Given the description of an element on the screen output the (x, y) to click on. 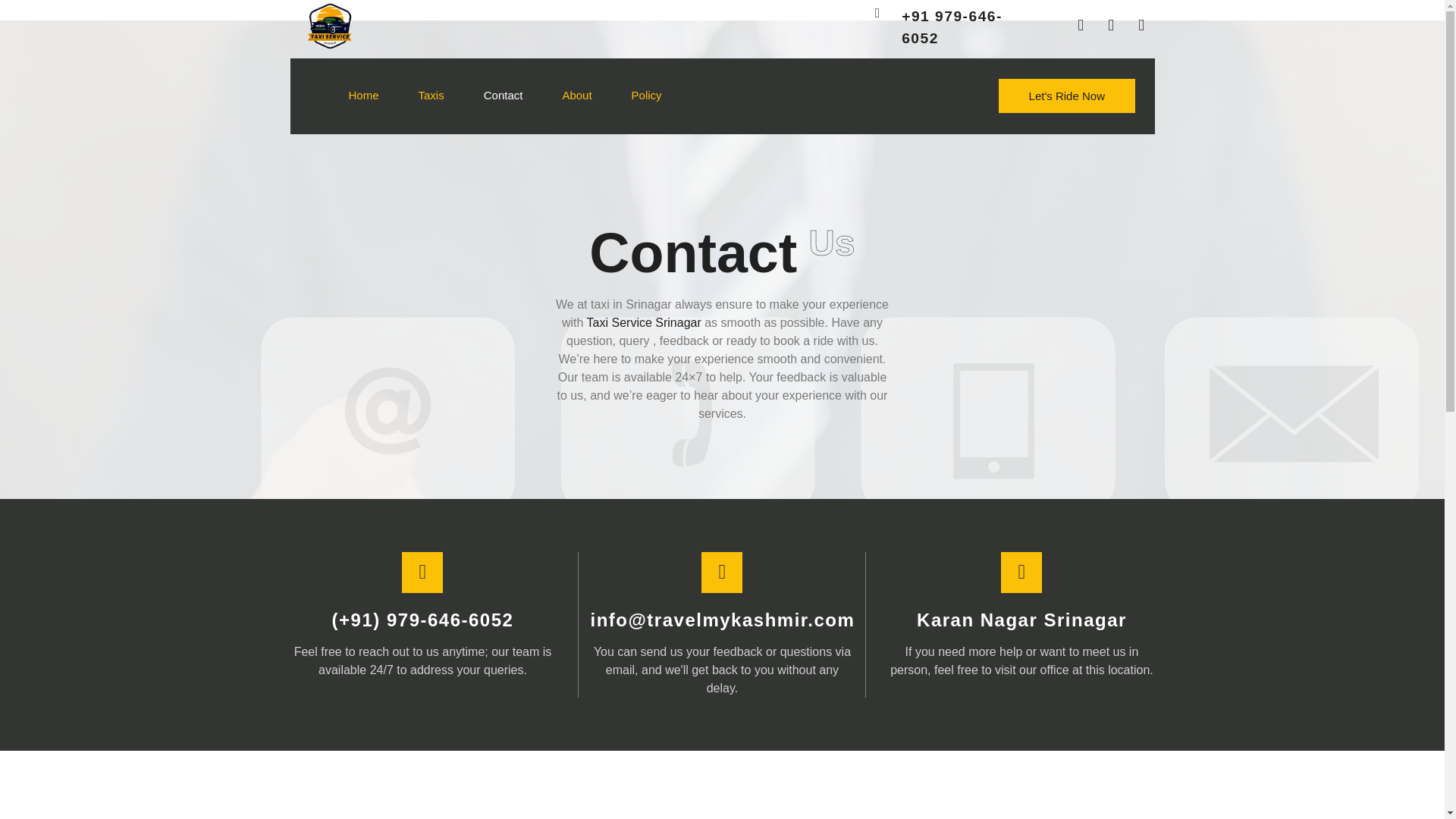
Taxis (411, 96)
Policy (627, 96)
About (556, 96)
Taxi Service Srinagar (643, 322)
Home (343, 96)
Let's Ride Now (1066, 95)
Contact (483, 96)
